Given the description of an element on the screen output the (x, y) to click on. 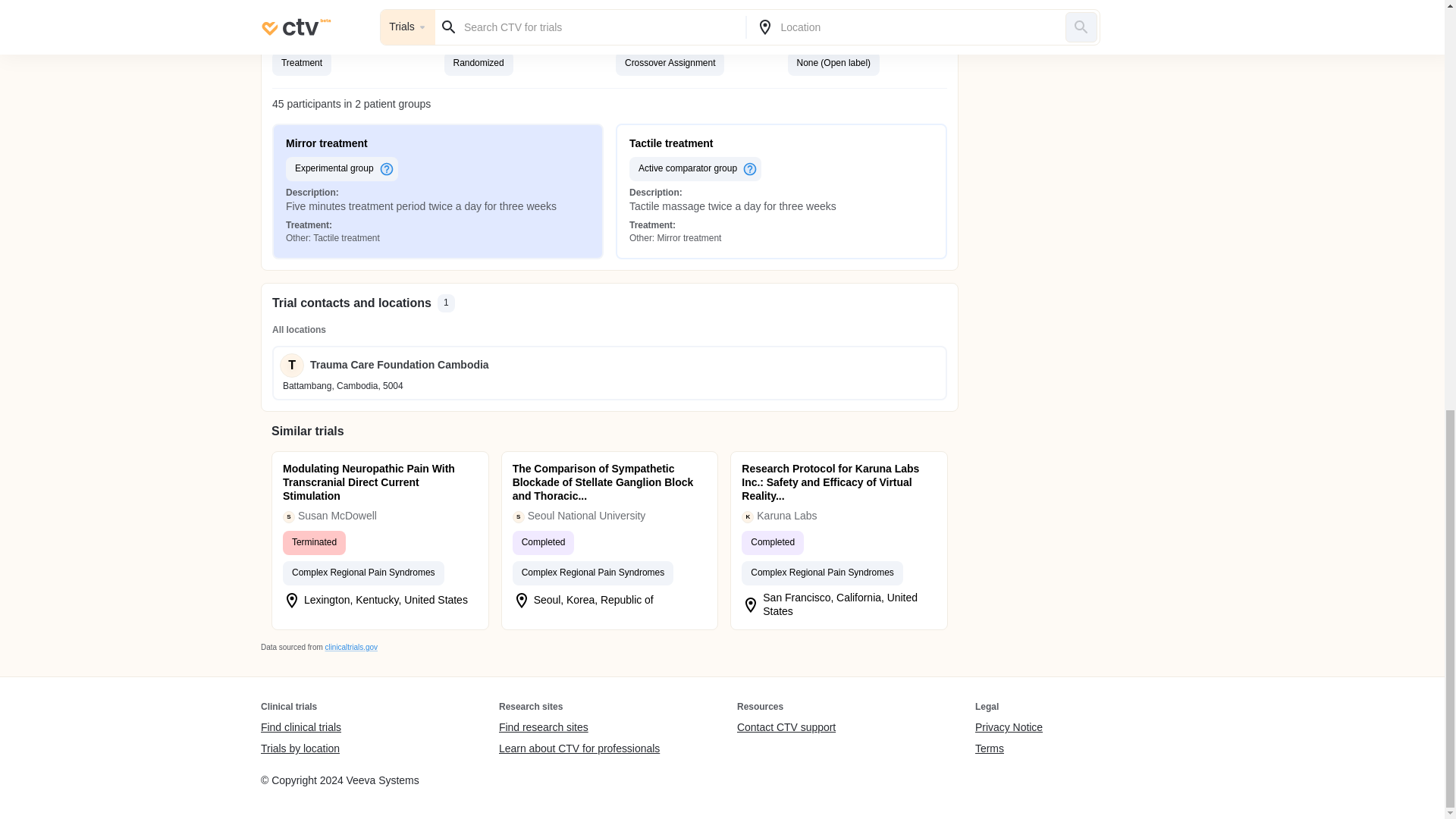
Learn about CTV for professionals (579, 748)
Contact CTV support (785, 727)
Privacy Notice (1008, 727)
Terms (1008, 748)
Find clinical trials (300, 727)
clinicaltrials.gov (350, 646)
Find research sites (579, 727)
Trials by location (300, 748)
